Given the description of an element on the screen output the (x, y) to click on. 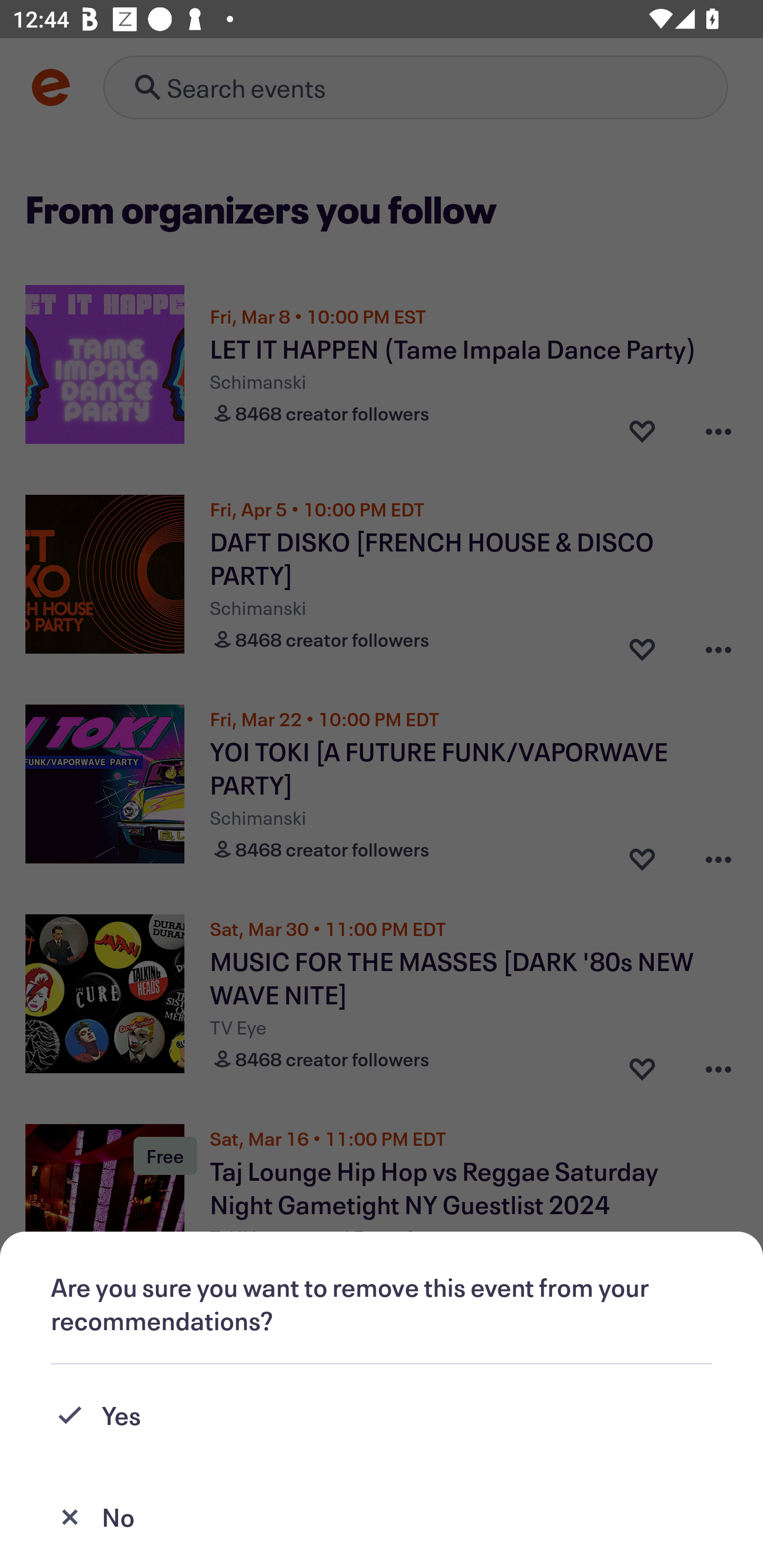
Yes (381, 1415)
No (381, 1517)
